Given the description of an element on the screen output the (x, y) to click on. 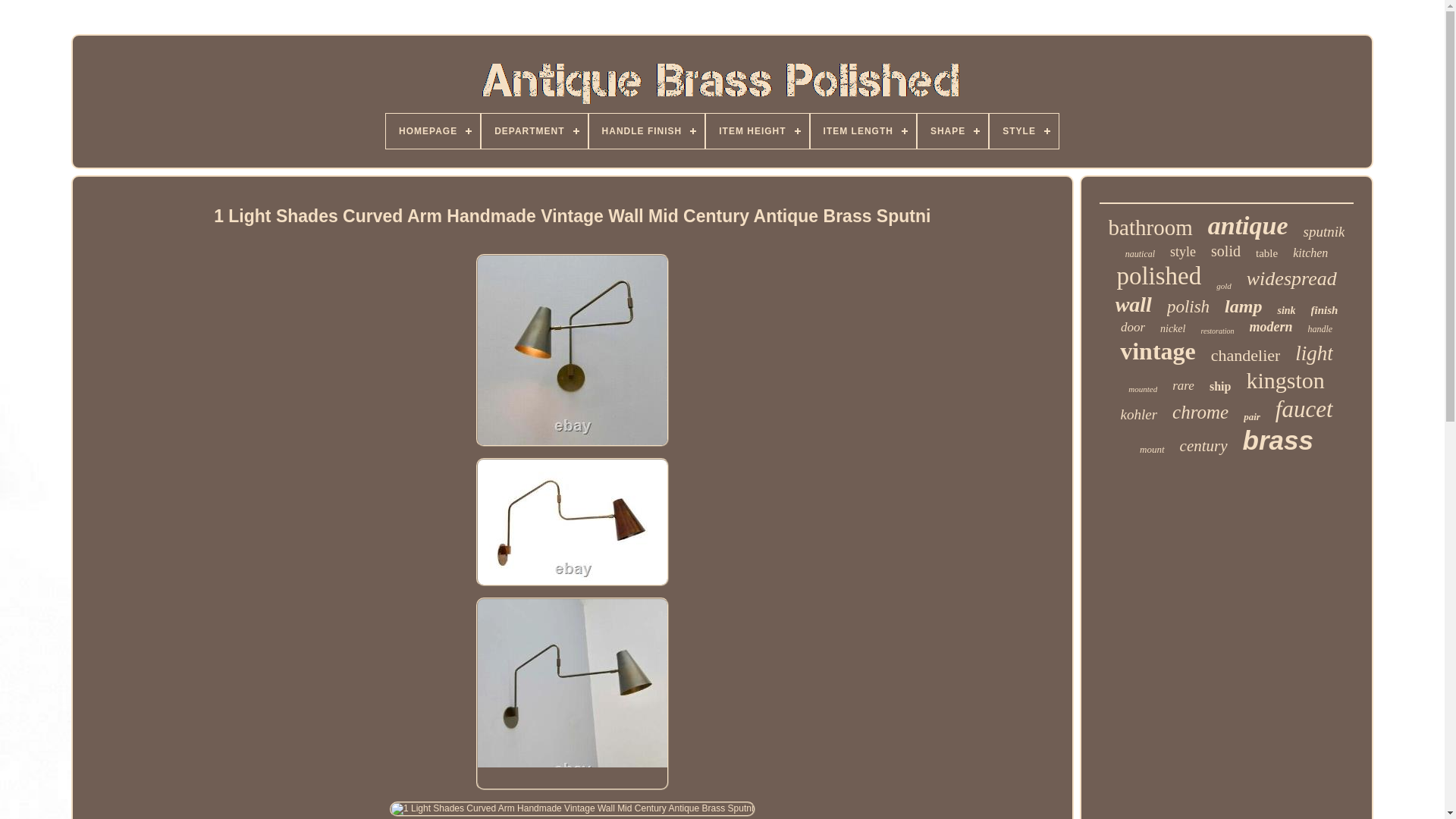
DEPARTMENT (533, 130)
HANDLE FINISH (646, 130)
HOMEPAGE (432, 130)
ITEM HEIGHT (757, 130)
